Given the description of an element on the screen output the (x, y) to click on. 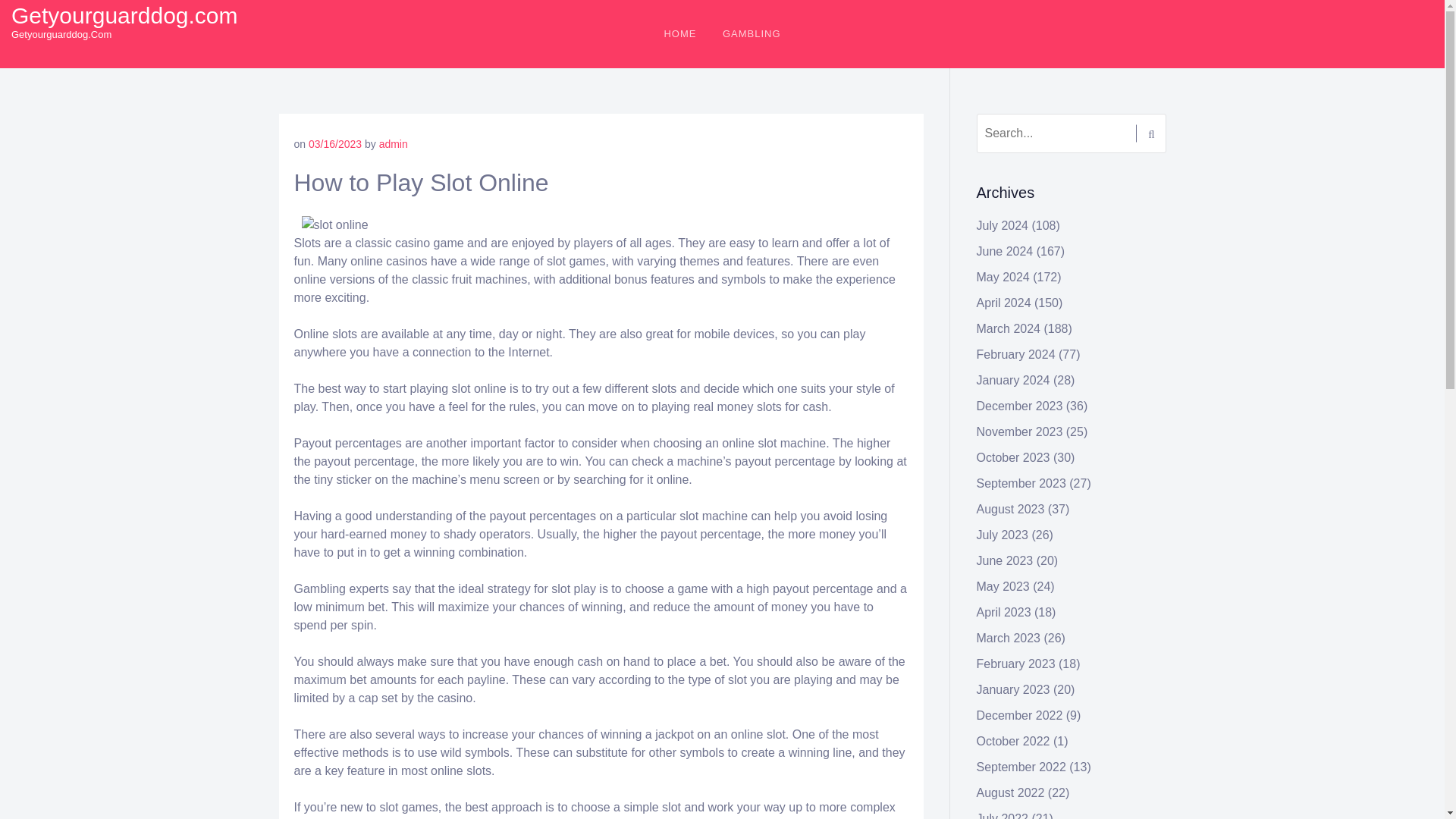
December 2023 (1019, 405)
August 2022 (1010, 792)
June 2023 (1004, 560)
October 2022 (1012, 740)
April 2023 (1003, 612)
December 2022 (1019, 715)
Getyourguarddog.com (124, 15)
September 2023 (1020, 482)
March 2023 (1008, 637)
March 2024 (1008, 328)
January 2023 (1012, 689)
April 2024 (1003, 302)
January 2024 (1012, 379)
admin (392, 143)
GAMBLING (751, 33)
